Given the description of an element on the screen output the (x, y) to click on. 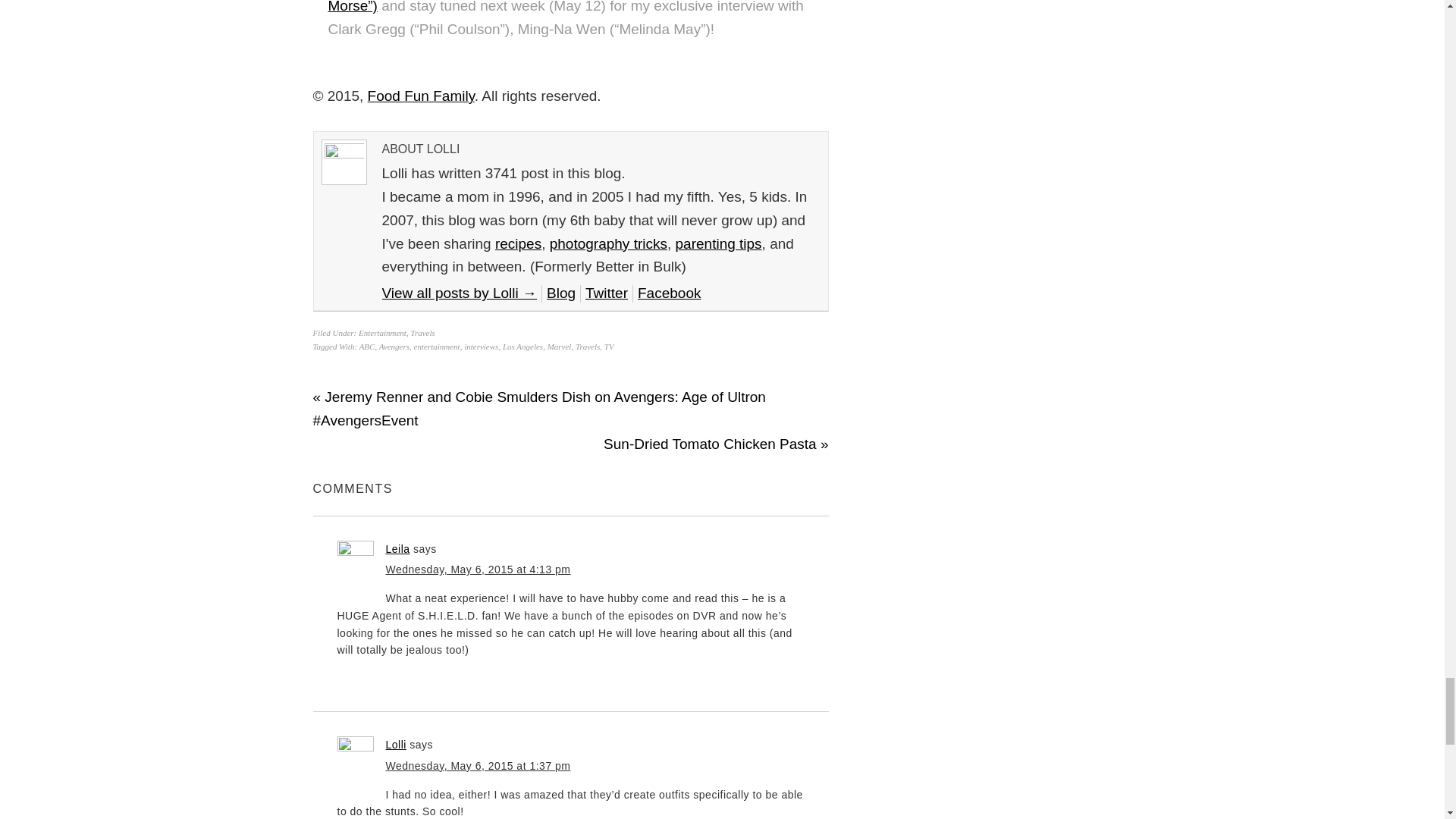
Follow Lolli on Twitter (606, 293)
